Given the description of an element on the screen output the (x, y) to click on. 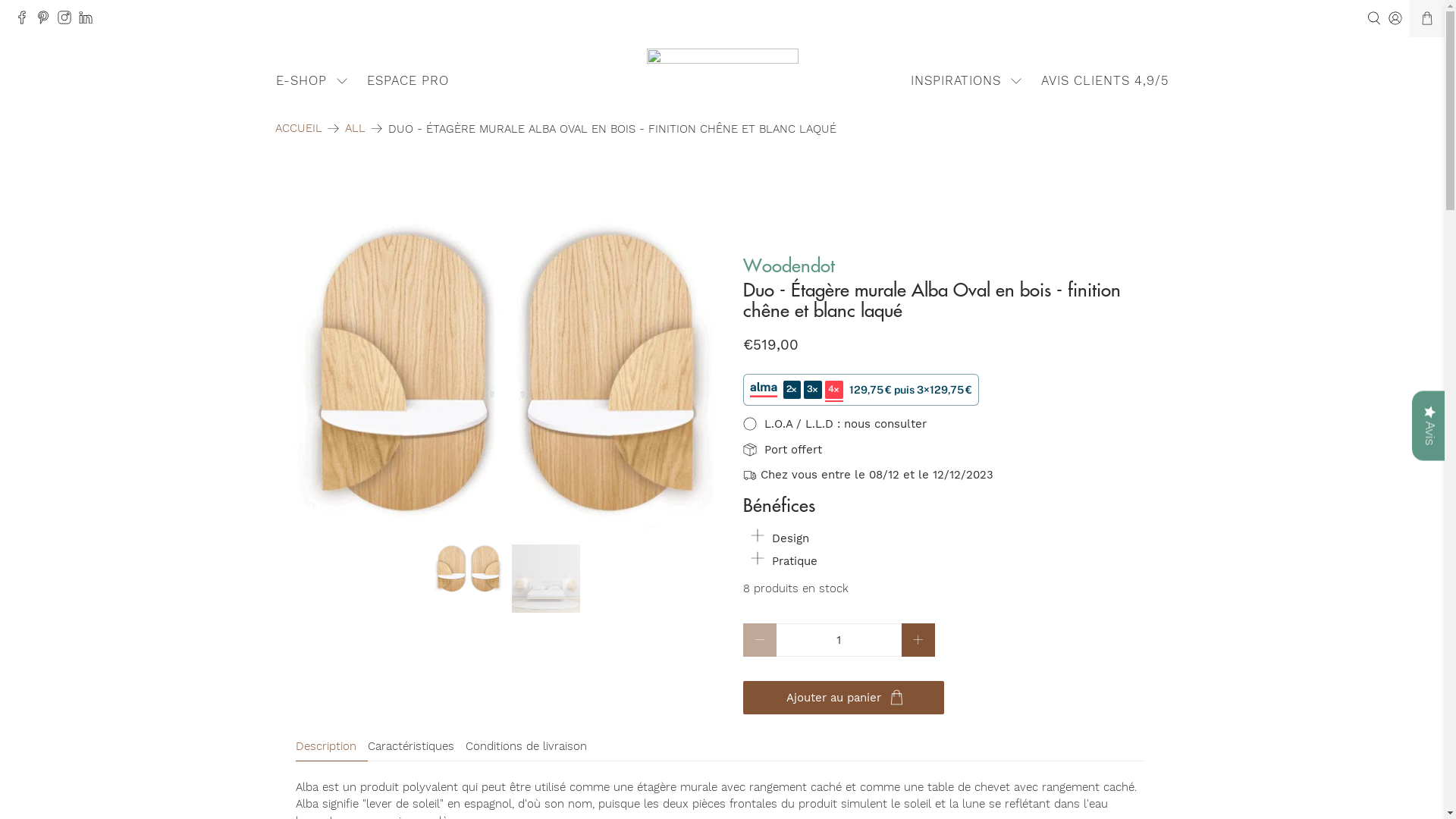
37+ Design on LinkedIn Element type: hover (89, 20)
INSPIRATIONS Element type: text (967, 80)
Description Element type: text (331, 747)
ESPACE PRO Element type: text (408, 80)
E-SHOP Element type: text (311, 80)
37+ Design on Instagram Element type: hover (67, 20)
37+ Design Element type: hover (721, 67)
Conditions de livraison Element type: text (531, 747)
ALL Element type: text (354, 128)
ACCUEIL Element type: text (297, 128)
37+ Design on Facebook Element type: hover (25, 20)
37+ Design on Pinterest Element type: hover (46, 20)
AVIS CLIENTS 4,9/5 Element type: text (1104, 80)
Ajouter au panier Element type: text (843, 697)
